Given the description of an element on the screen output the (x, y) to click on. 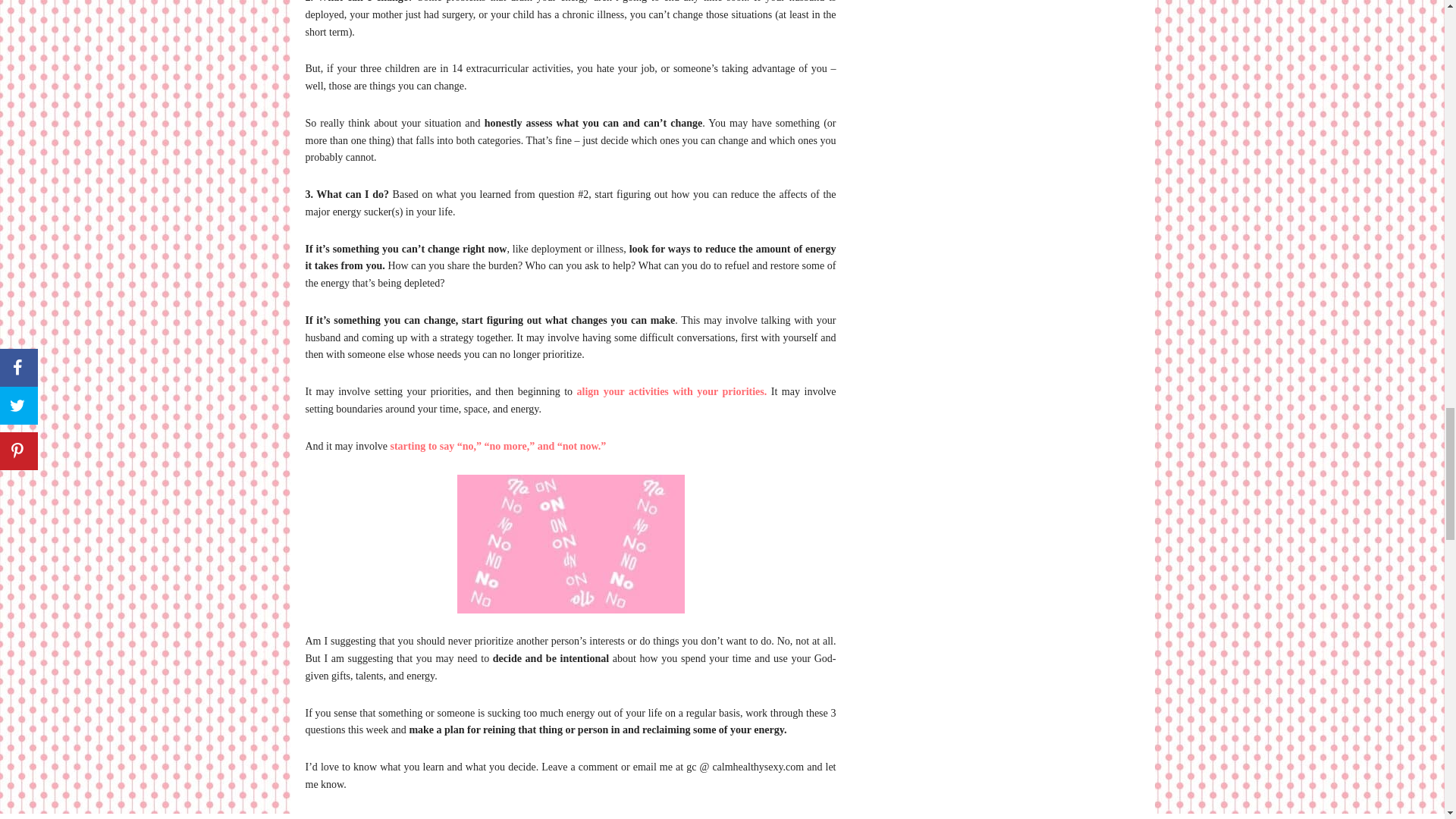
align your activities with your priorities. (671, 391)
align your activities with your priorities. (671, 391)
